Given the description of an element on the screen output the (x, y) to click on. 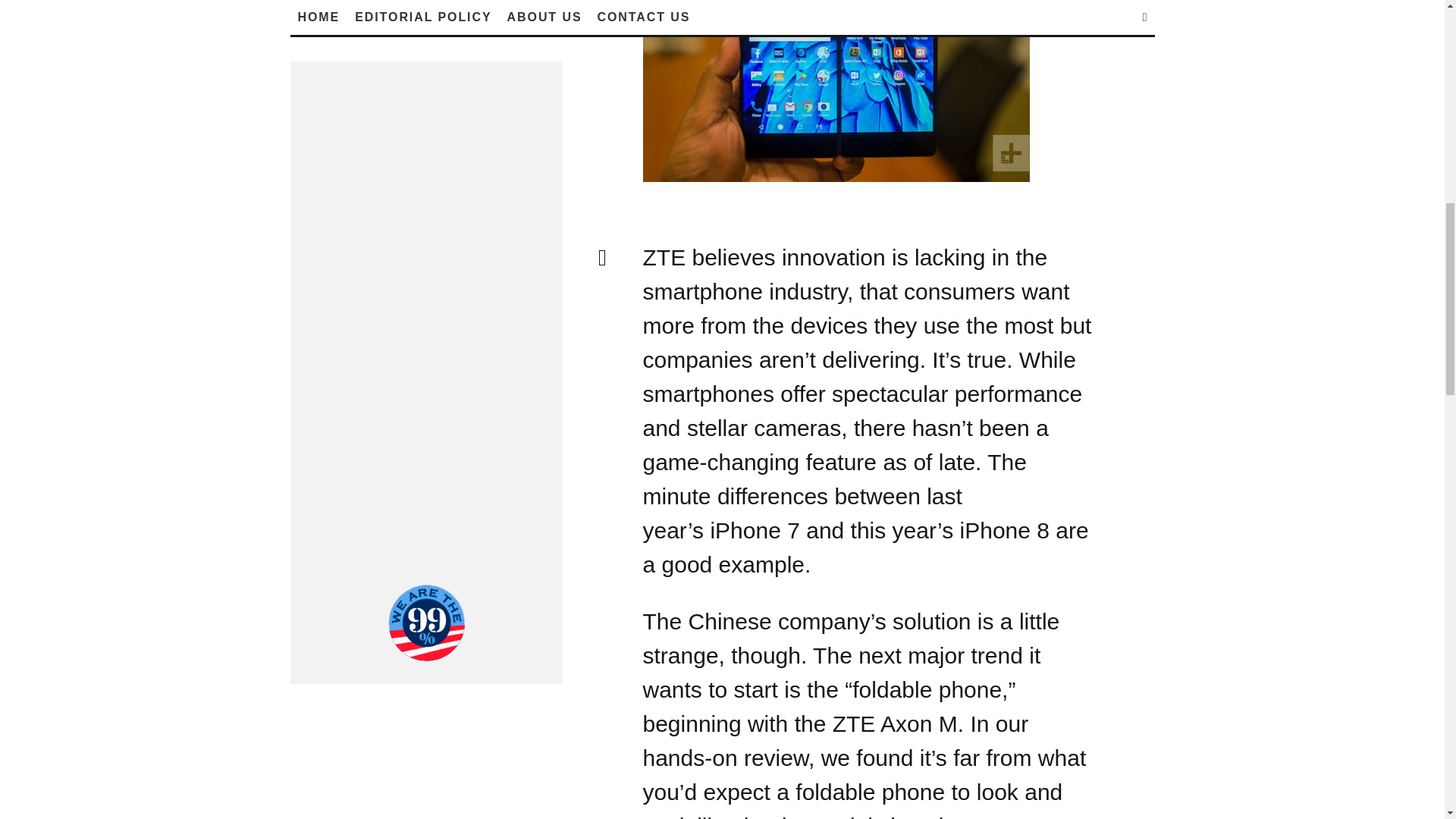
Axon (905, 723)
iPhone 8 (1004, 529)
iPhone 7 (754, 529)
